Given the description of an element on the screen output the (x, y) to click on. 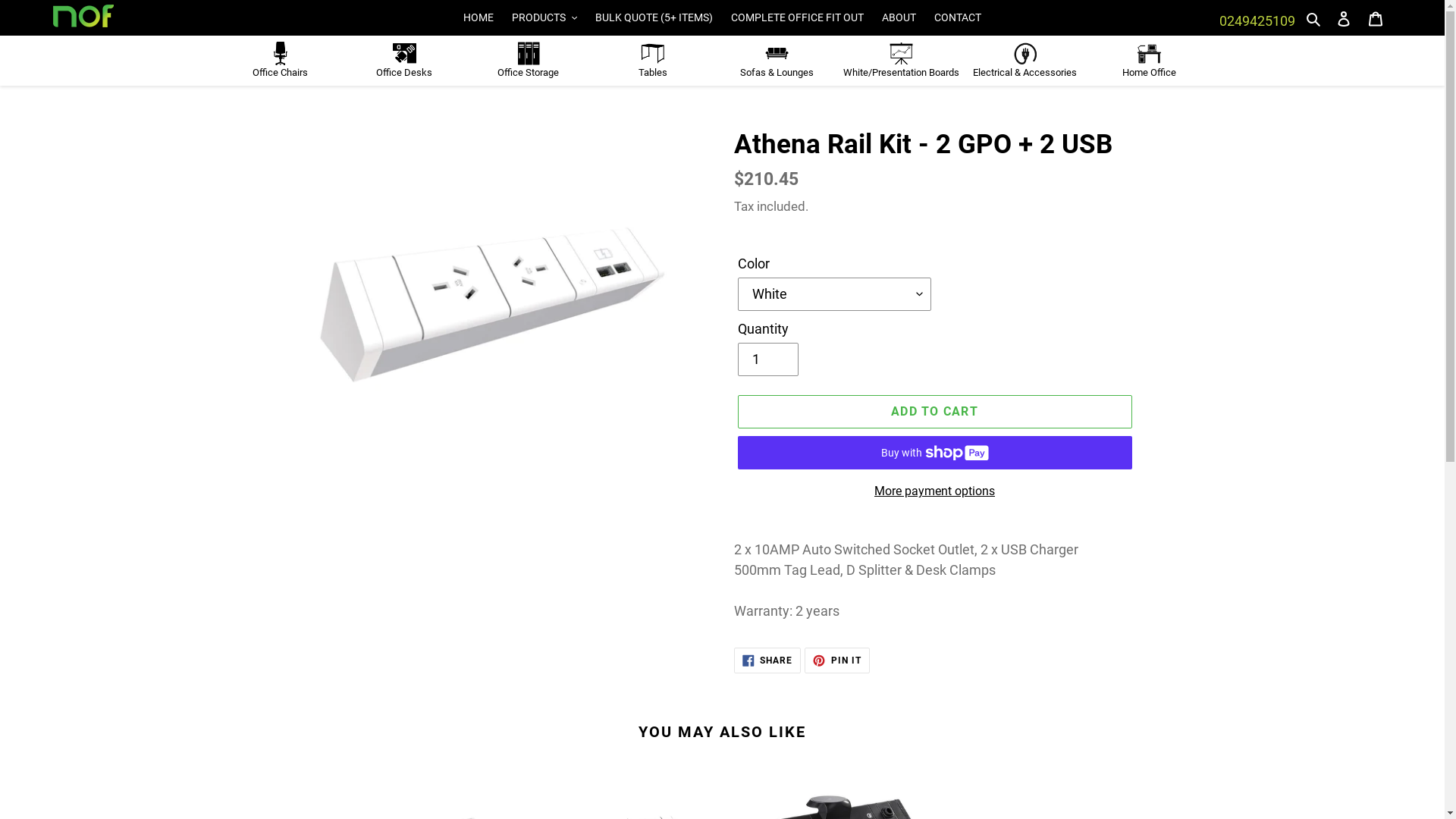
Electrical & Accessories Element type: text (1024, 59)
White/Presentation Boards Element type: text (900, 59)
BULK QUOTE (5+ ITEMS) Element type: text (653, 17)
COMPLETE OFFICE FIT OUT Element type: text (797, 17)
HOME Element type: text (478, 17)
Office Chairs Element type: text (279, 59)
ADD TO CART Element type: text (934, 411)
PIN IT
PIN ON PINTEREST Element type: text (836, 660)
Home Office Element type: text (1149, 59)
PRODUCTS Element type: text (544, 17)
Office Desks Element type: text (403, 59)
Cart Element type: text (1375, 17)
Search Element type: text (1314, 17)
Log in Element type: text (1343, 17)
More payment options Element type: text (934, 491)
0249425109 Element type: text (1257, 20)
SHARE
SHARE ON FACEBOOK Element type: text (767, 660)
CONTACT Element type: text (957, 17)
Tables Element type: text (652, 59)
Sofas & Lounges Element type: text (776, 59)
ABOUT Element type: text (898, 17)
Office Storage Element type: text (528, 59)
